Given the description of an element on the screen output the (x, y) to click on. 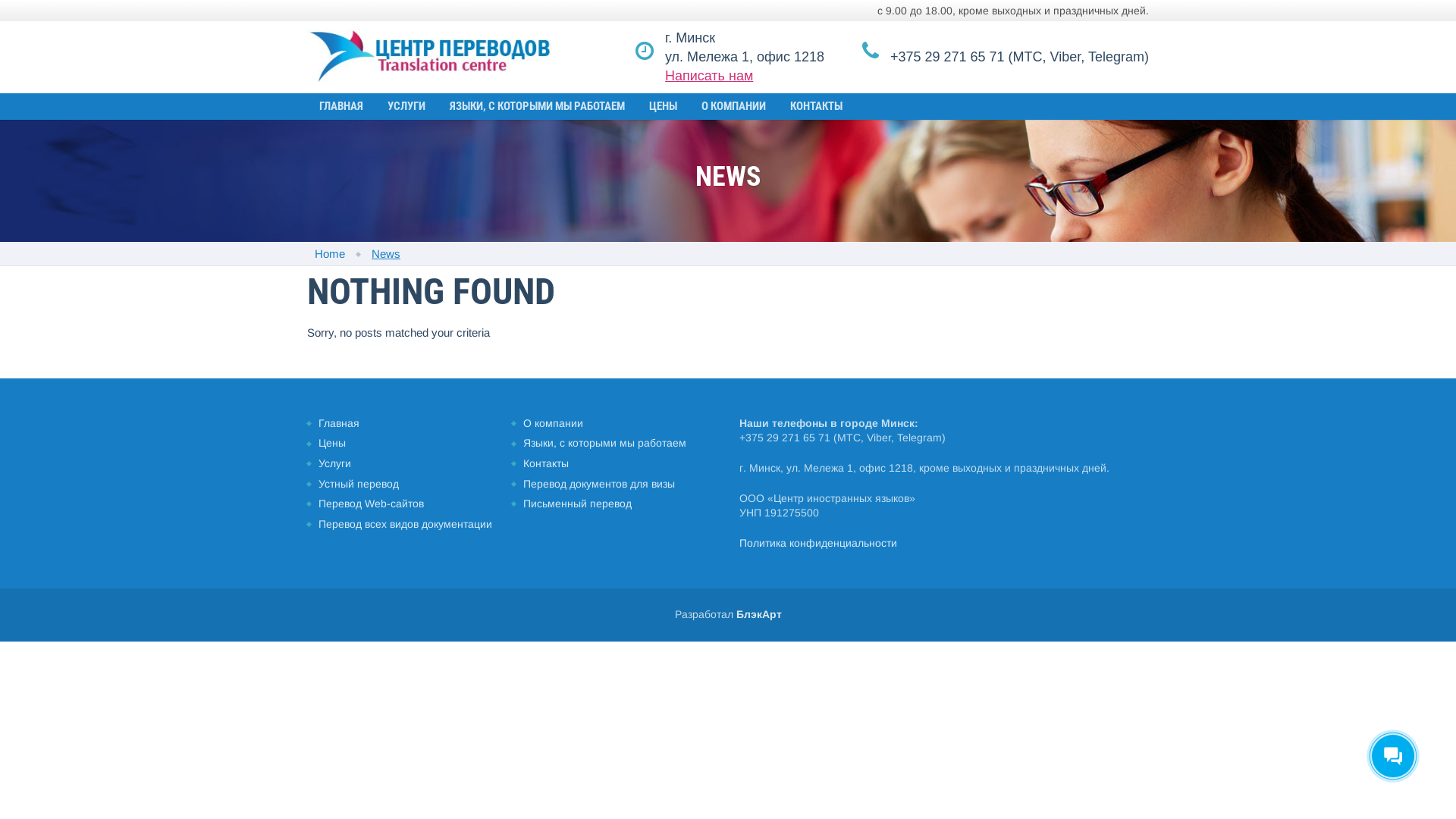
Home Element type: text (329, 253)
